Given the description of an element on the screen output the (x, y) to click on. 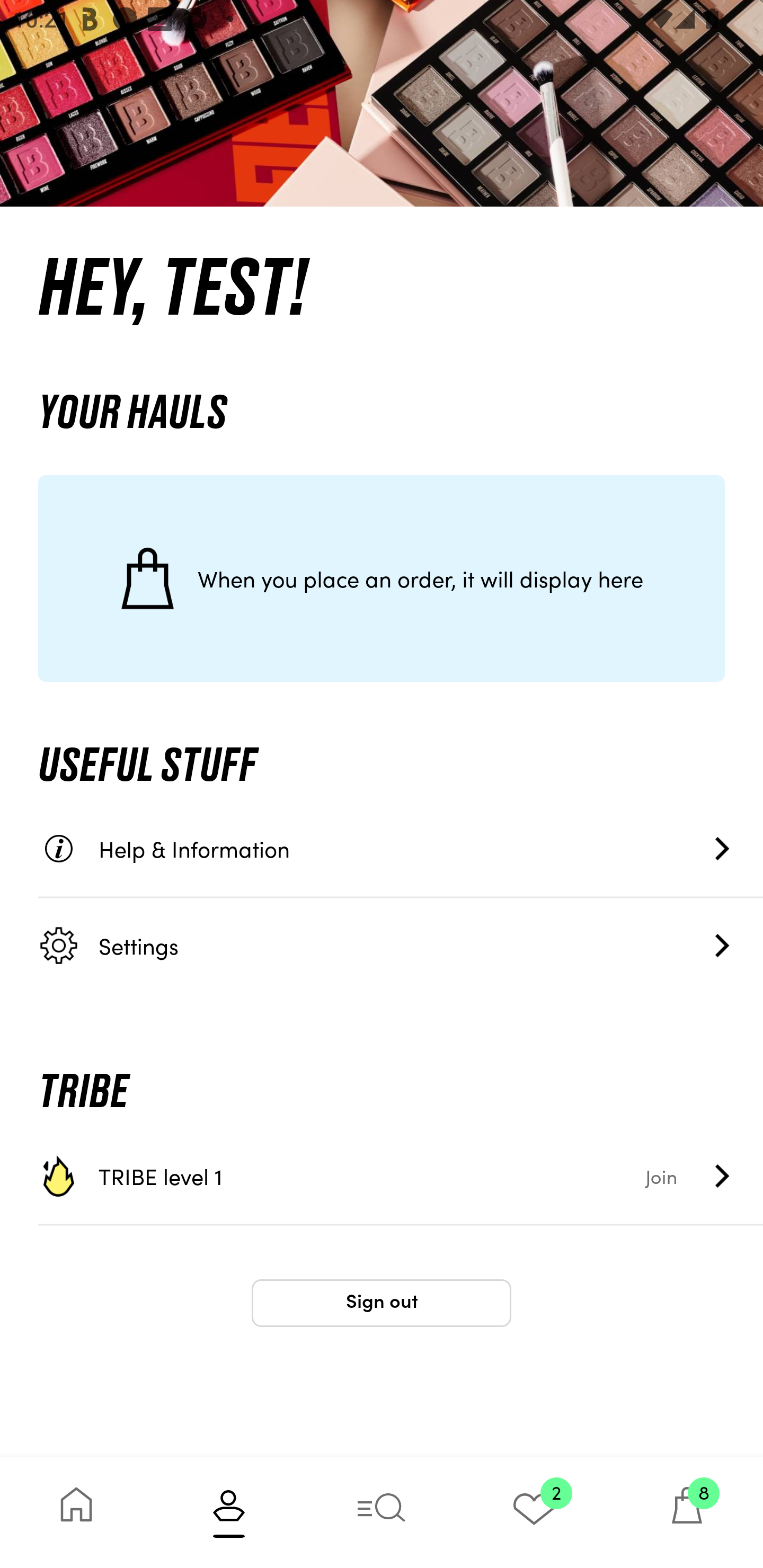
Help & Information (400, 848)
Settings (400, 945)
TRIBE level 1 Join (400, 1175)
Sign out (381, 1302)
2 (533, 1512)
8 (686, 1512)
